Given the description of an element on the screen output the (x, y) to click on. 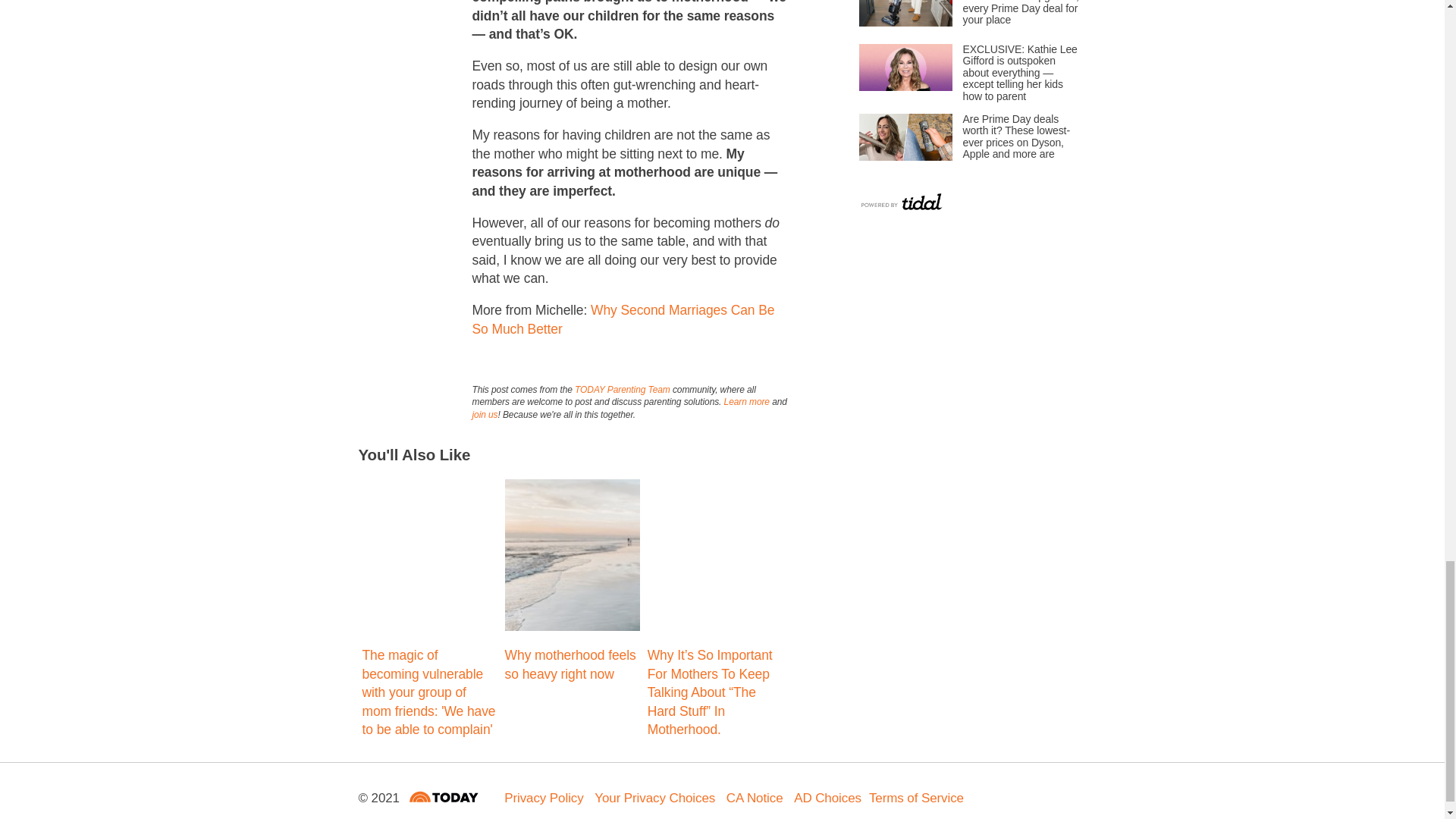
Why Second Marriages Can Be So Much Better (622, 319)
TODAY Parenting Team (622, 389)
join us (484, 414)
Why motherhood feels so heavy right now (570, 664)
Learn more (746, 401)
